Given the description of an element on the screen output the (x, y) to click on. 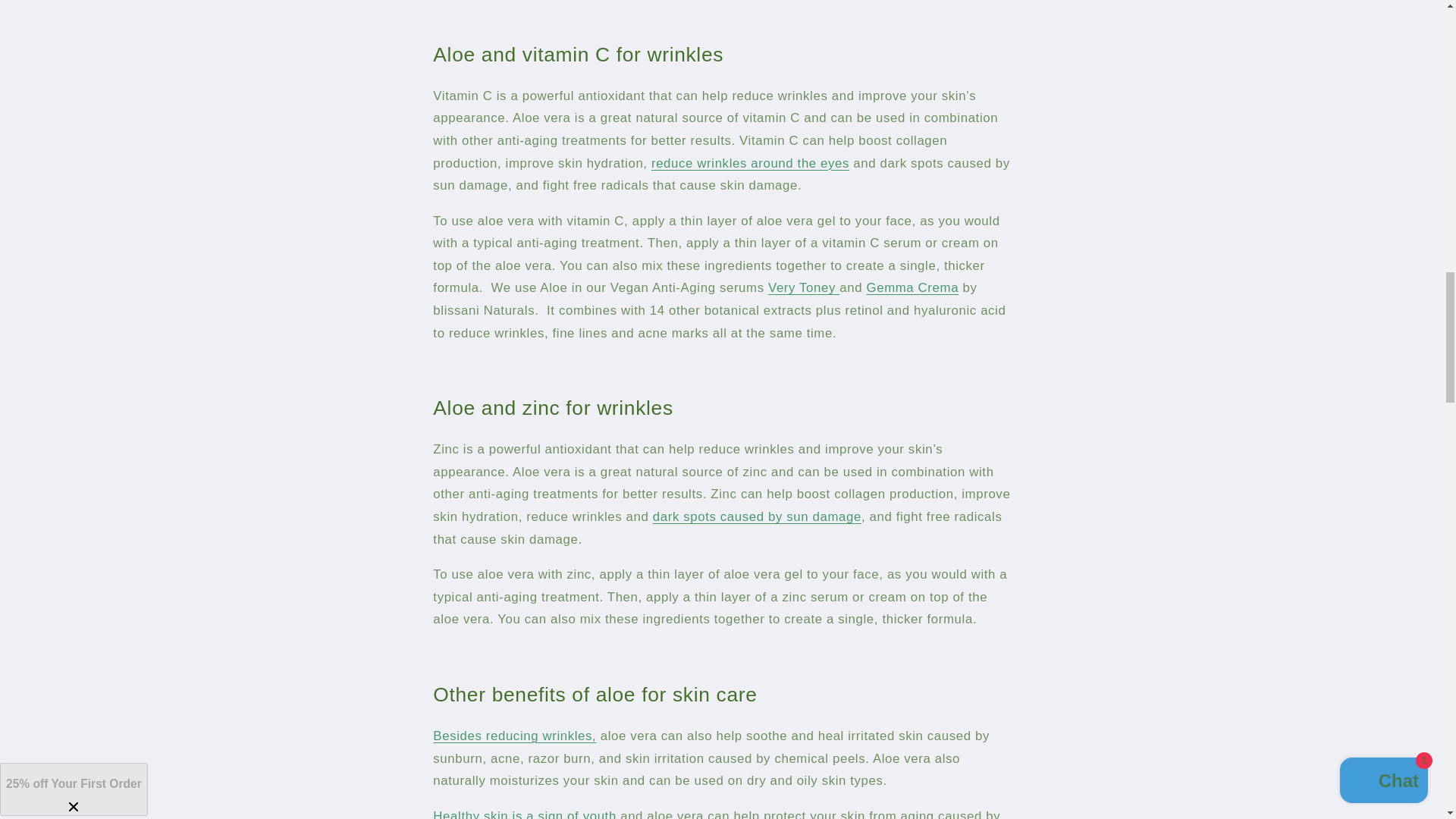
Aloe for Skin: Hydration, Healing and Anti-Aging (513, 735)
Gemma Crema vegan anti-aging serum by blissani naturals (912, 287)
5 Natural Remedies for Dark spots (756, 516)
How To Use Aloe Vera To Reduce Under Eye Wrinkles (749, 163)
